Given the description of an element on the screen output the (x, y) to click on. 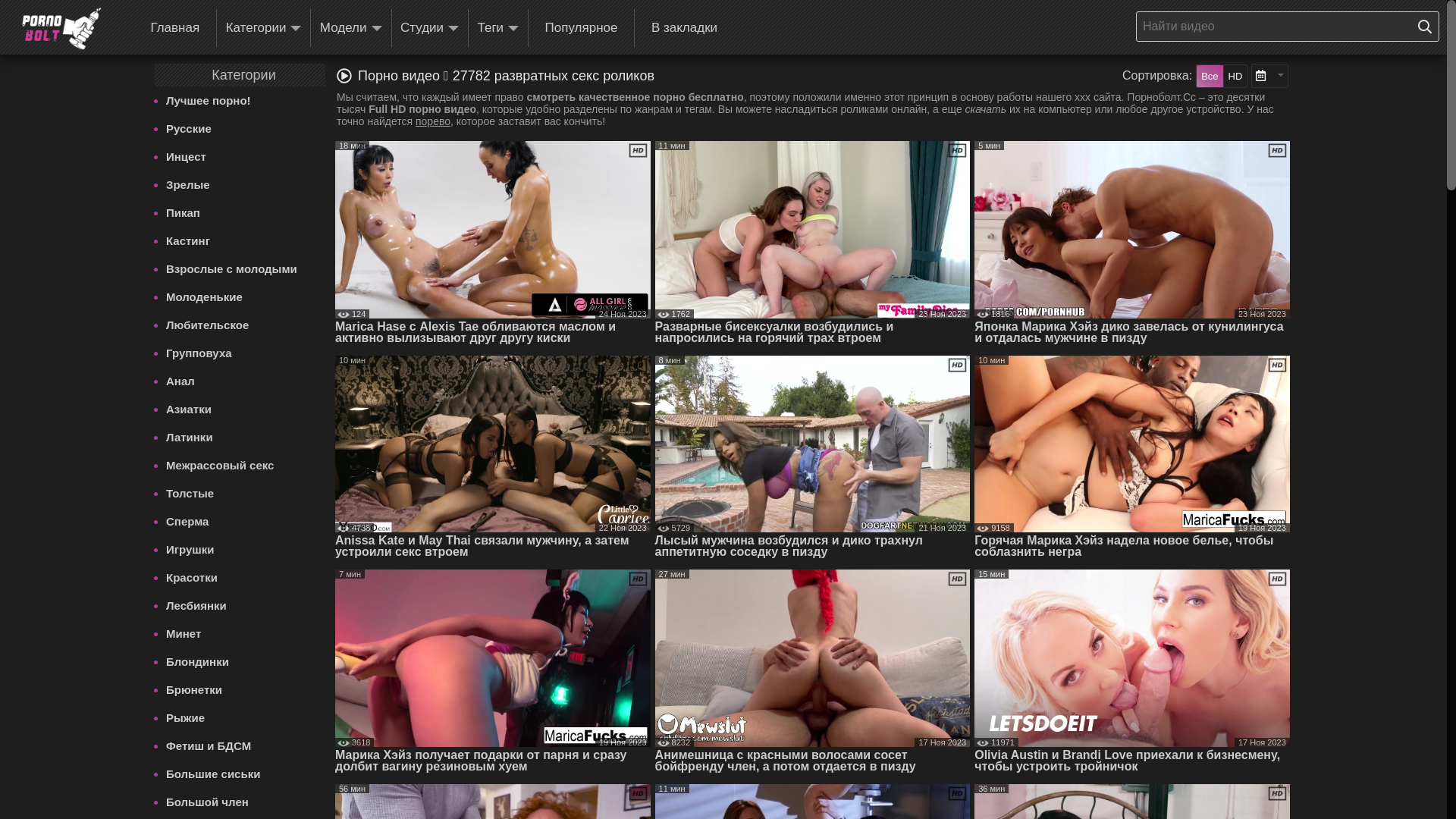
Pornobolt Element type: hover (60, 28)
HD Element type: text (1235, 75)
